Given the description of an element on the screen output the (x, y) to click on. 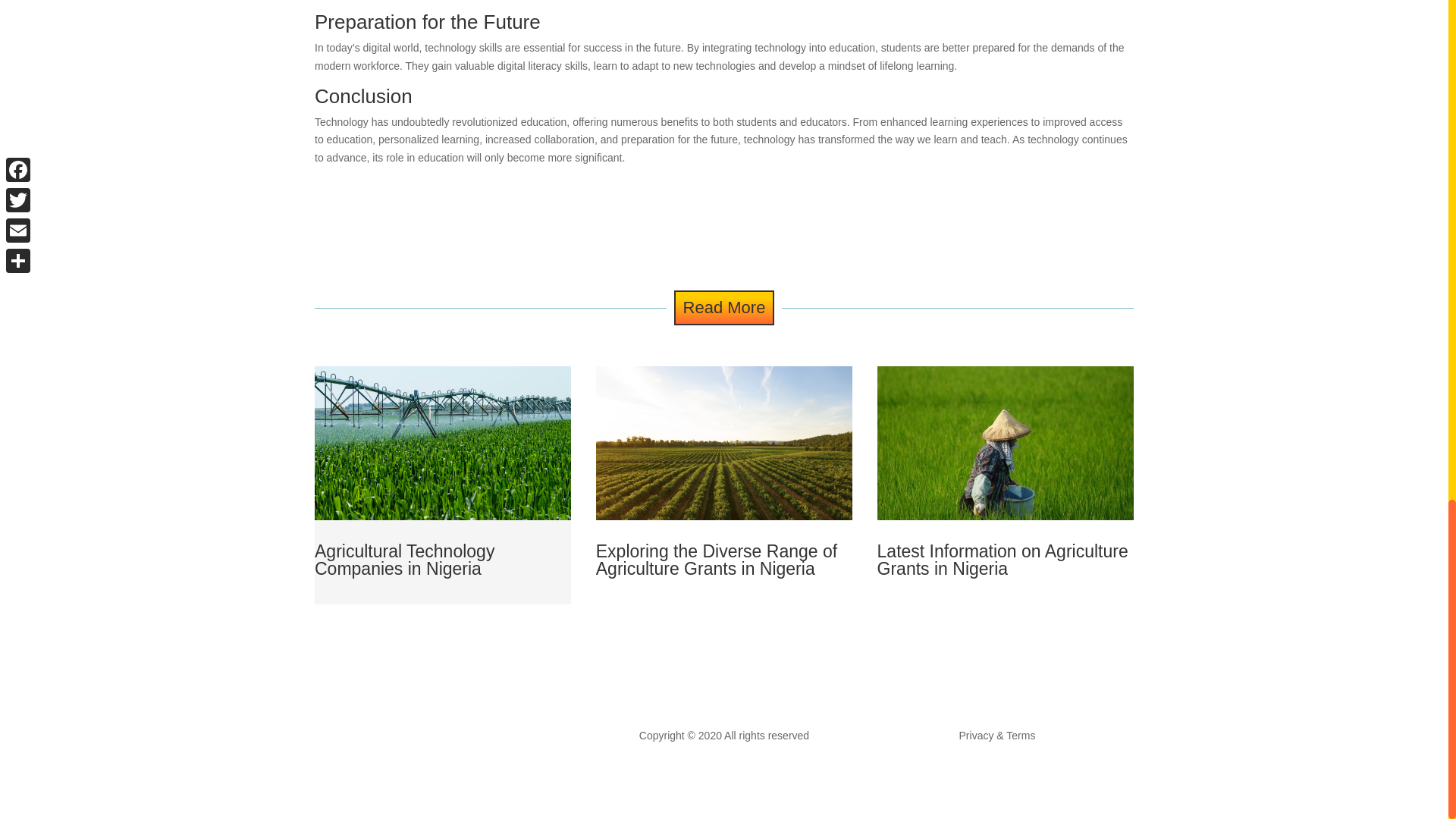
Follow on Facebook (435, 739)
Follow on X (466, 739)
Agricultural Technology Companies in Nigeria (404, 559)
Exploring the Diverse Range of Agriculture Grants in Nigeria (716, 559)
Latest Information on Agriculture Grants in Nigeria (1002, 559)
